Given the description of an element on the screen output the (x, y) to click on. 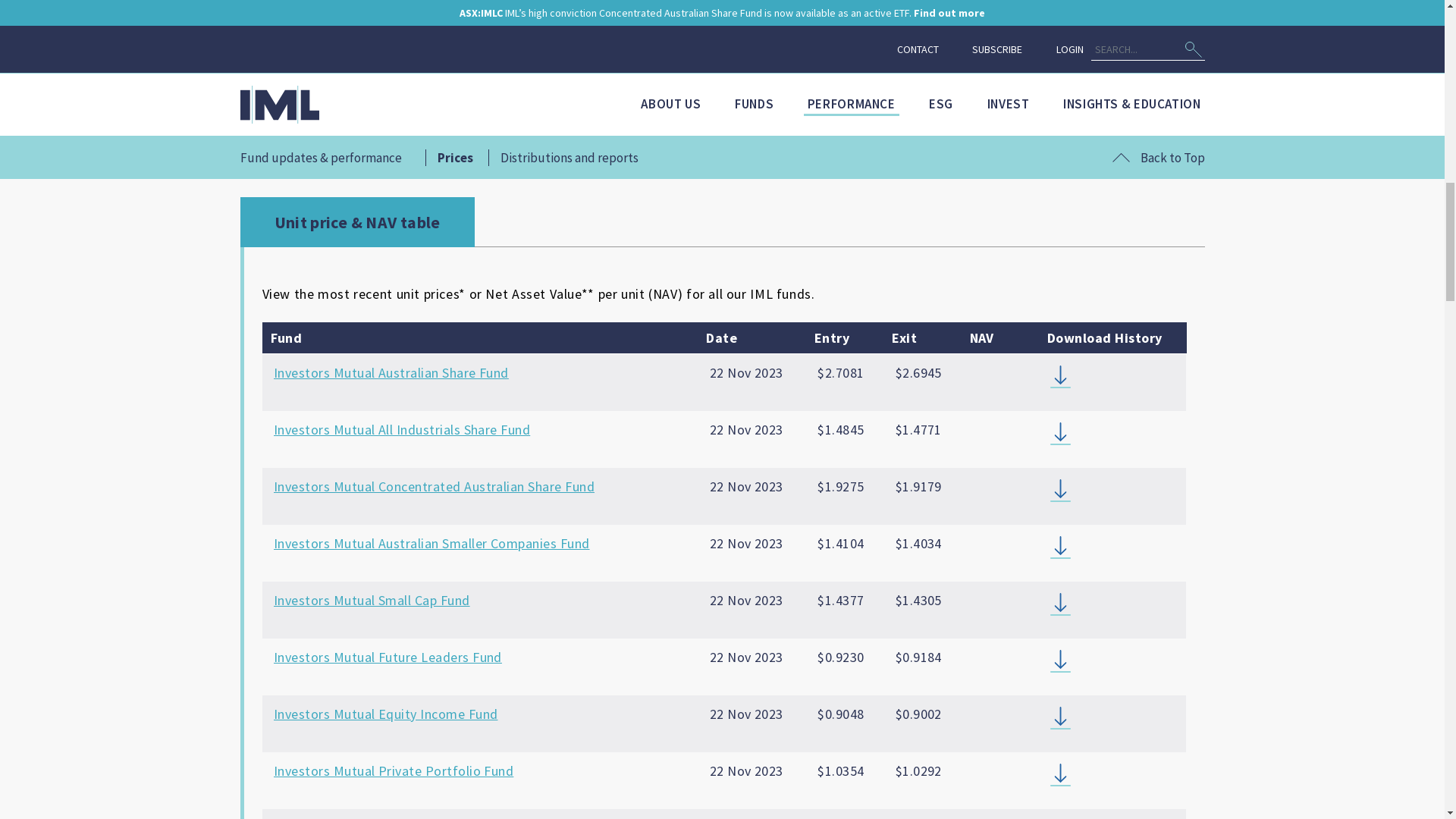
Home Element type: text (256, 488)
